Given the description of an element on the screen output the (x, y) to click on. 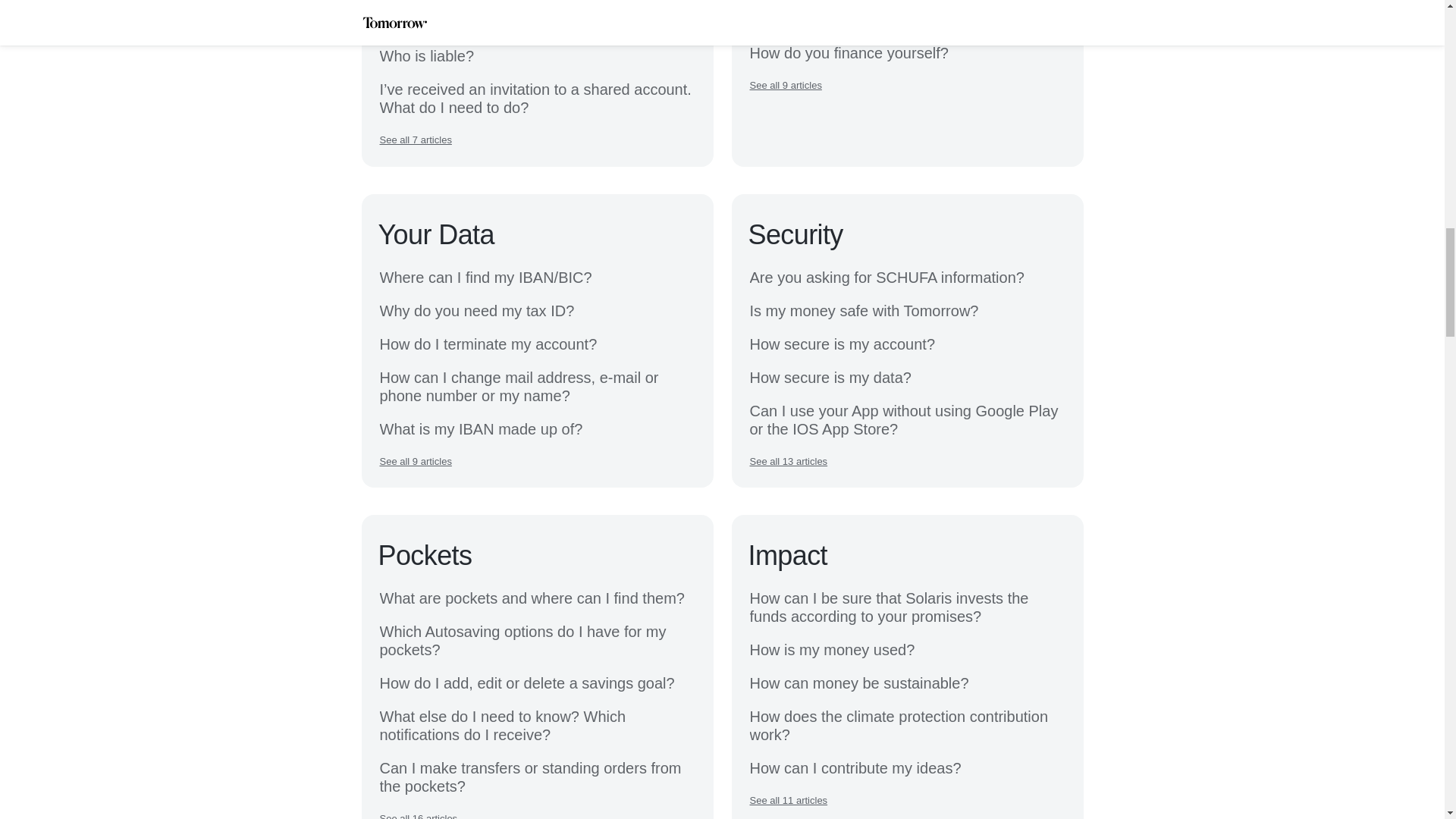
Impact (787, 555)
Pockets (424, 555)
Your Data (435, 235)
Security (795, 235)
